Given the description of an element on the screen output the (x, y) to click on. 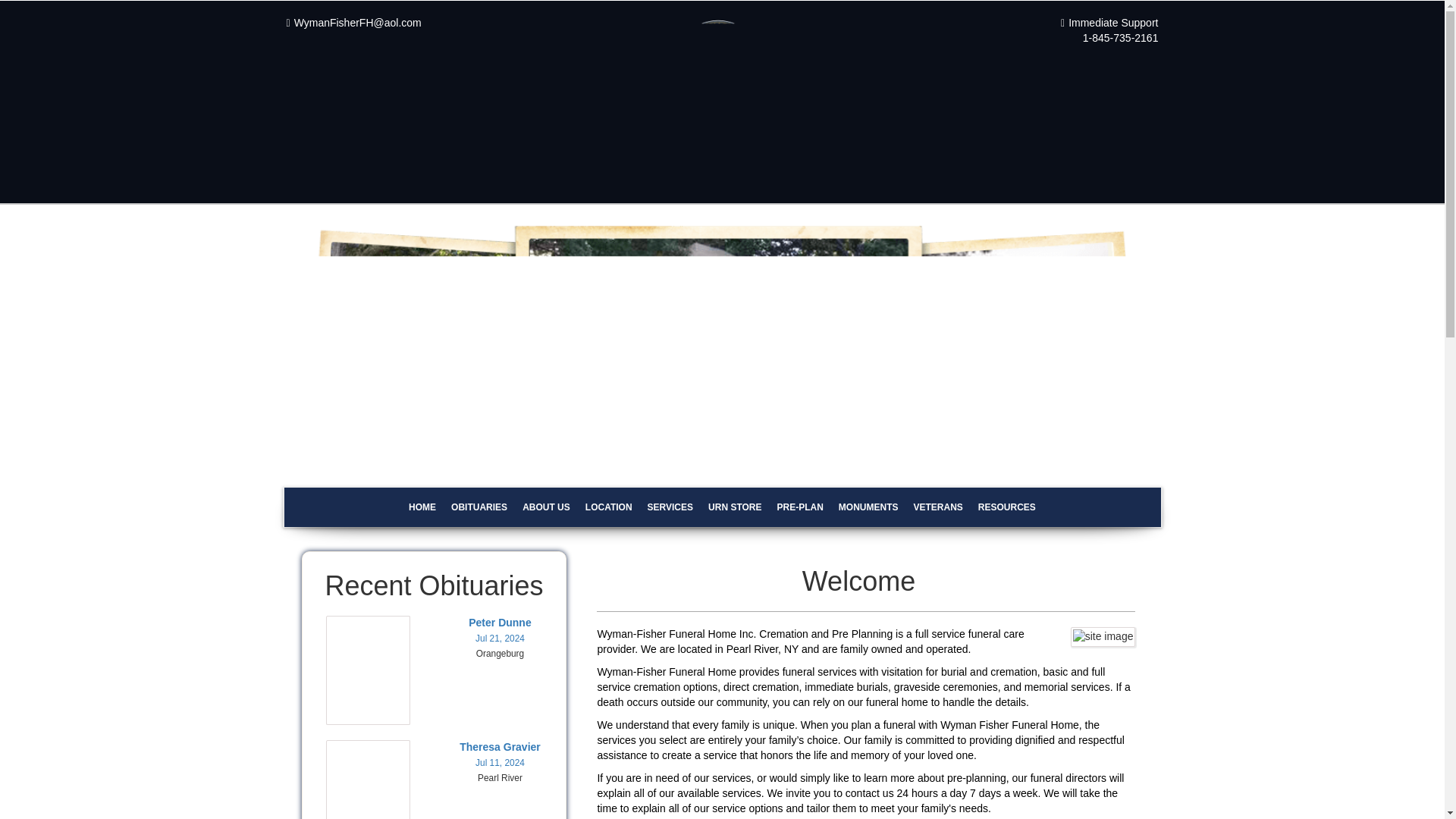
URN STORE (734, 507)
VETERANS (938, 507)
PRE-PLAN (798, 507)
LOCATION (609, 507)
OBITUARIES (479, 507)
SERVICES (670, 507)
RESOURCES (1007, 507)
MONUMENTS (868, 507)
1-845-735-2161 (1120, 37)
HOME (422, 507)
ABOUT US (546, 507)
